Given the description of an element on the screen output the (x, y) to click on. 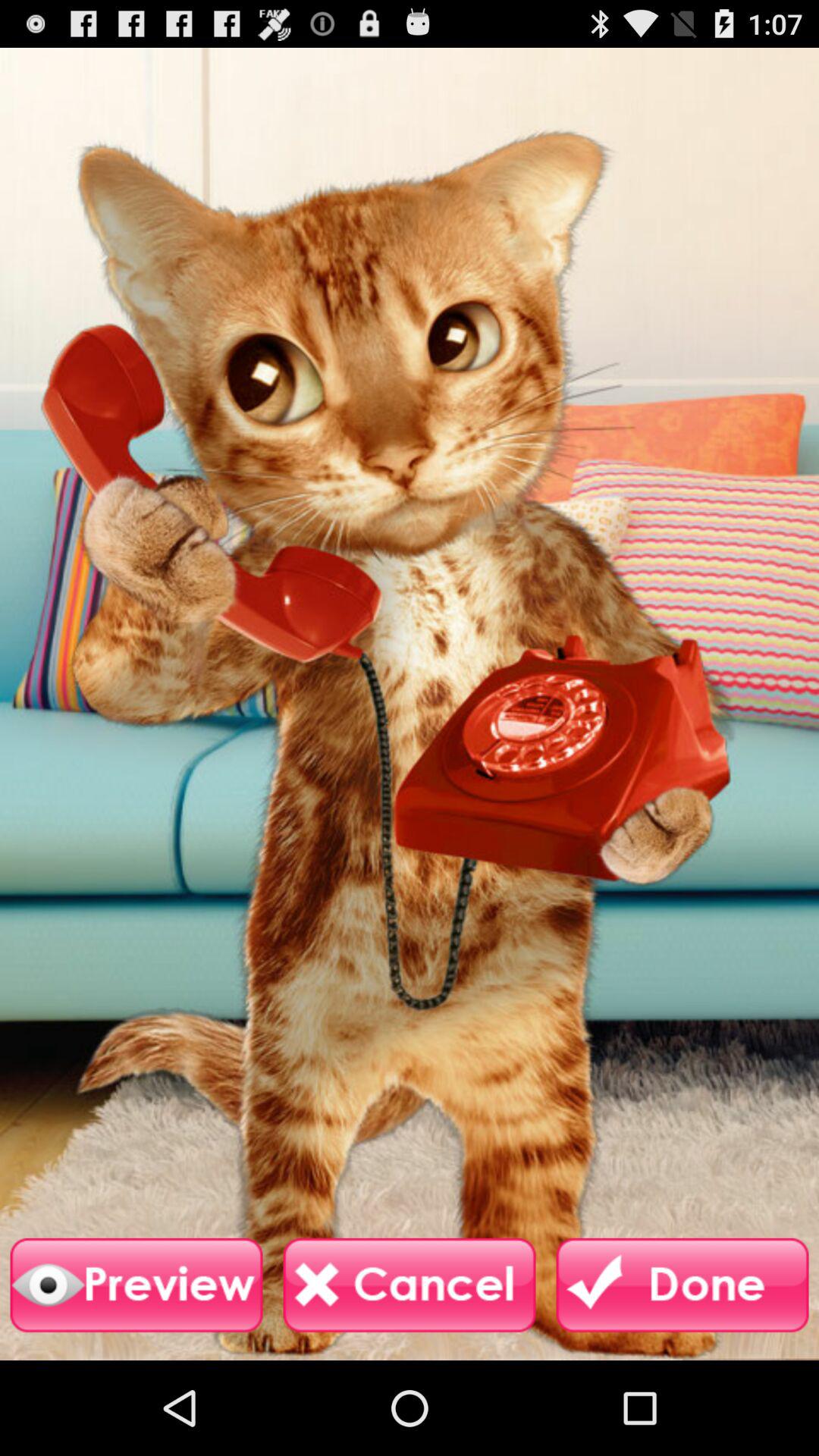
cancel (409, 1285)
